Given the description of an element on the screen output the (x, y) to click on. 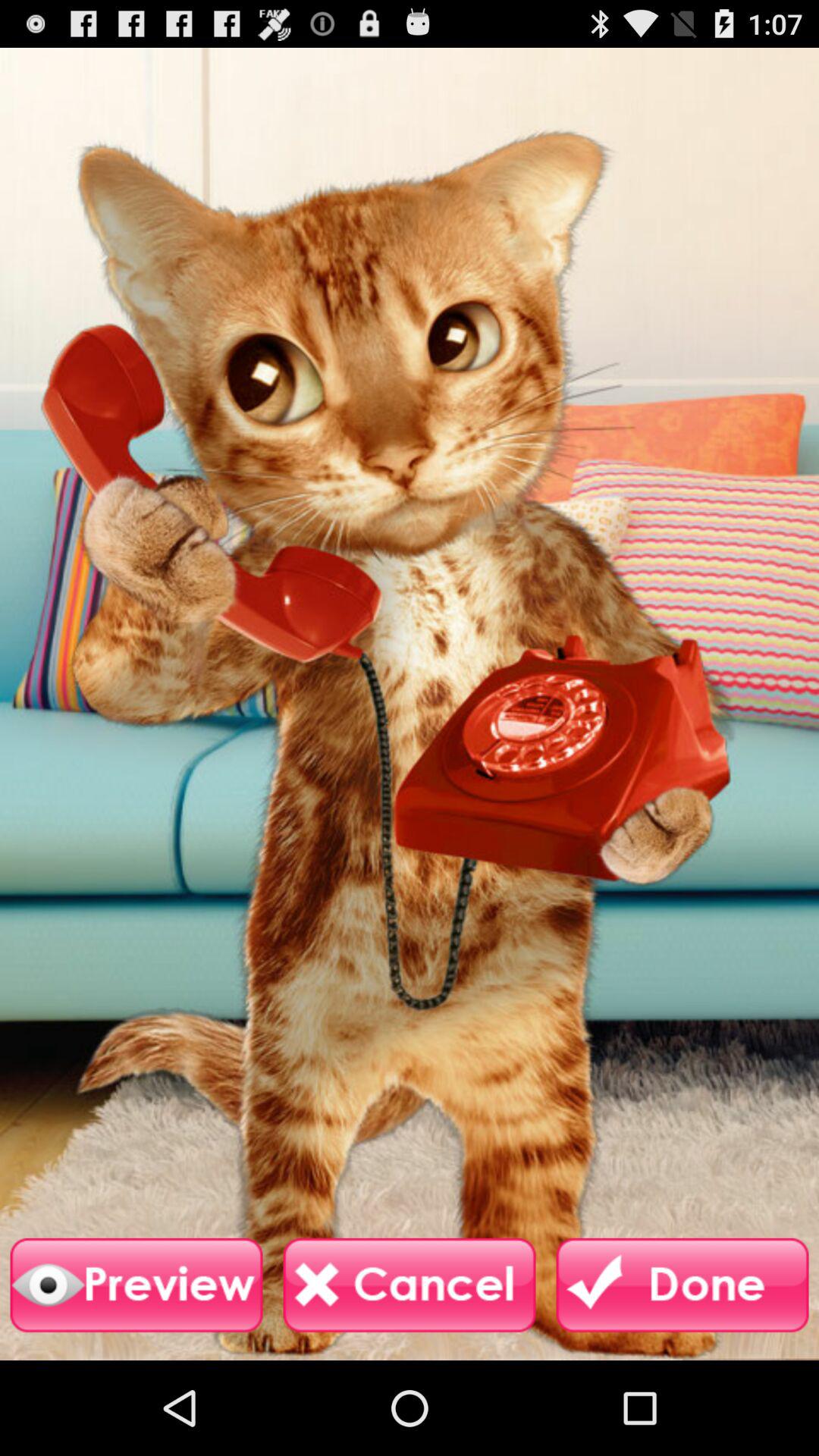
cancel (409, 1285)
